Given the description of an element on the screen output the (x, y) to click on. 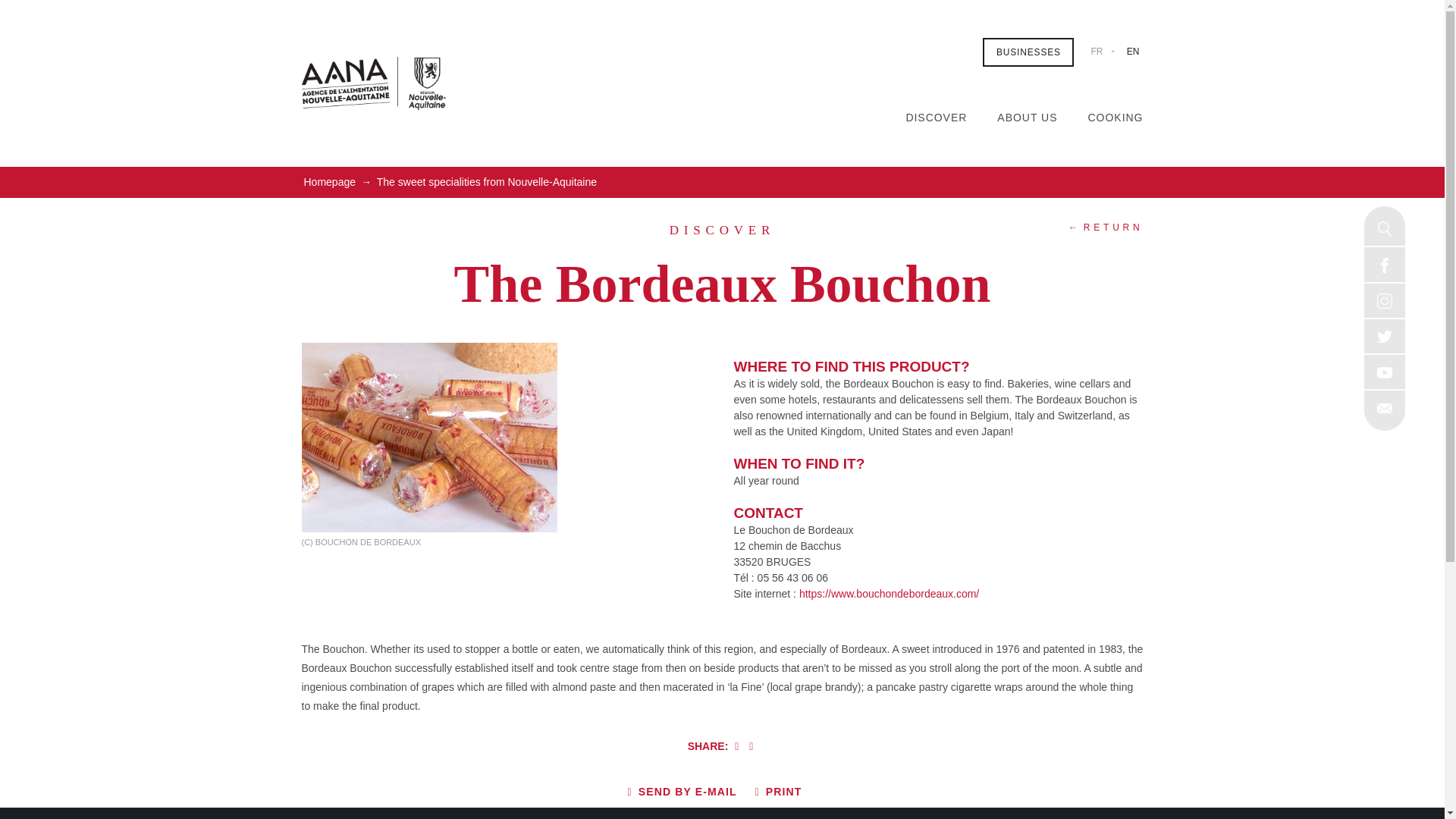
PRINT (778, 791)
SEND BY E-MAIL (681, 791)
Homepage (329, 182)
FR (1096, 50)
EN (1133, 50)
The sweet specialities from Nouvelle-Aquitaine (486, 182)
